Given the description of an element on the screen output the (x, y) to click on. 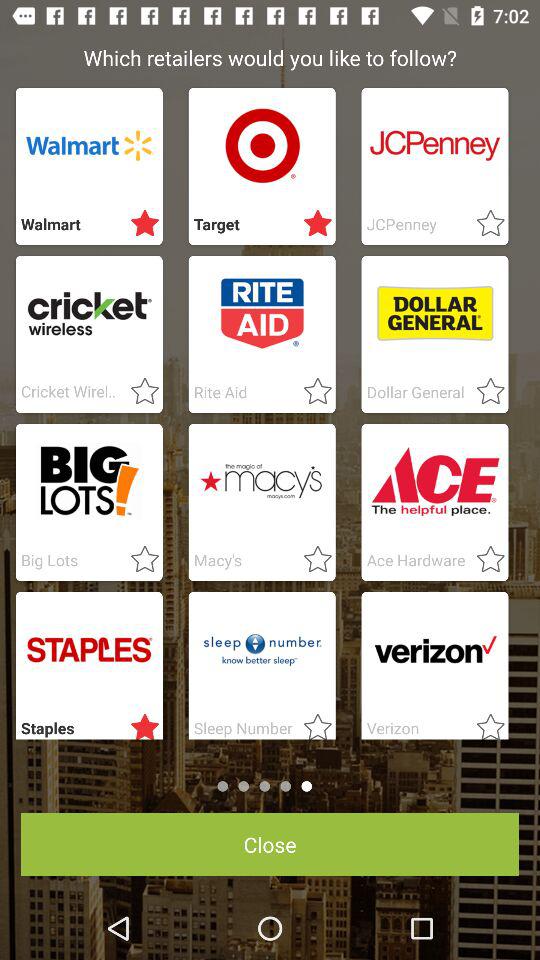
go to like (139, 560)
